Given the description of an element on the screen output the (x, y) to click on. 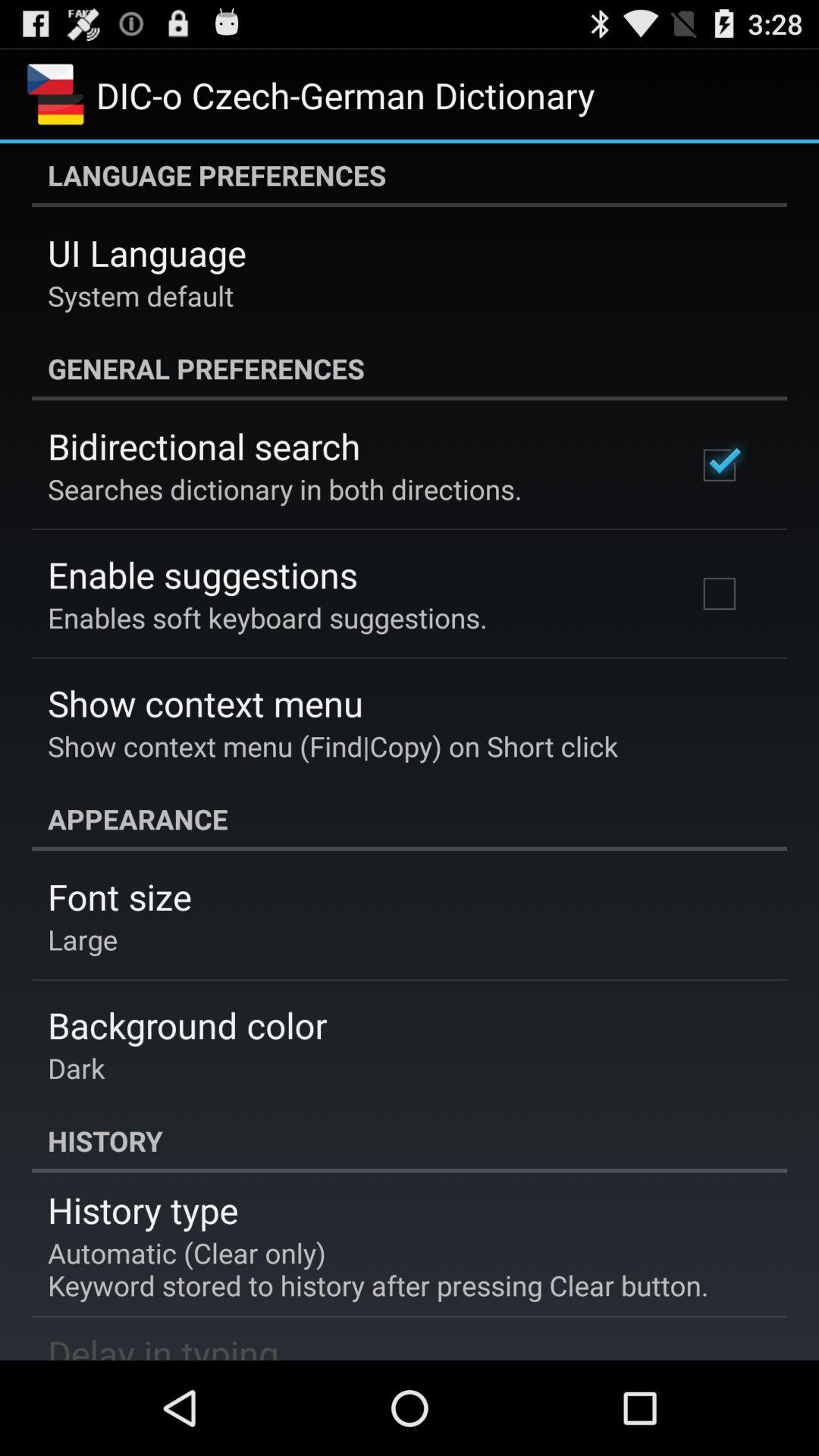
launch the large icon (82, 939)
